Given the description of an element on the screen output the (x, y) to click on. 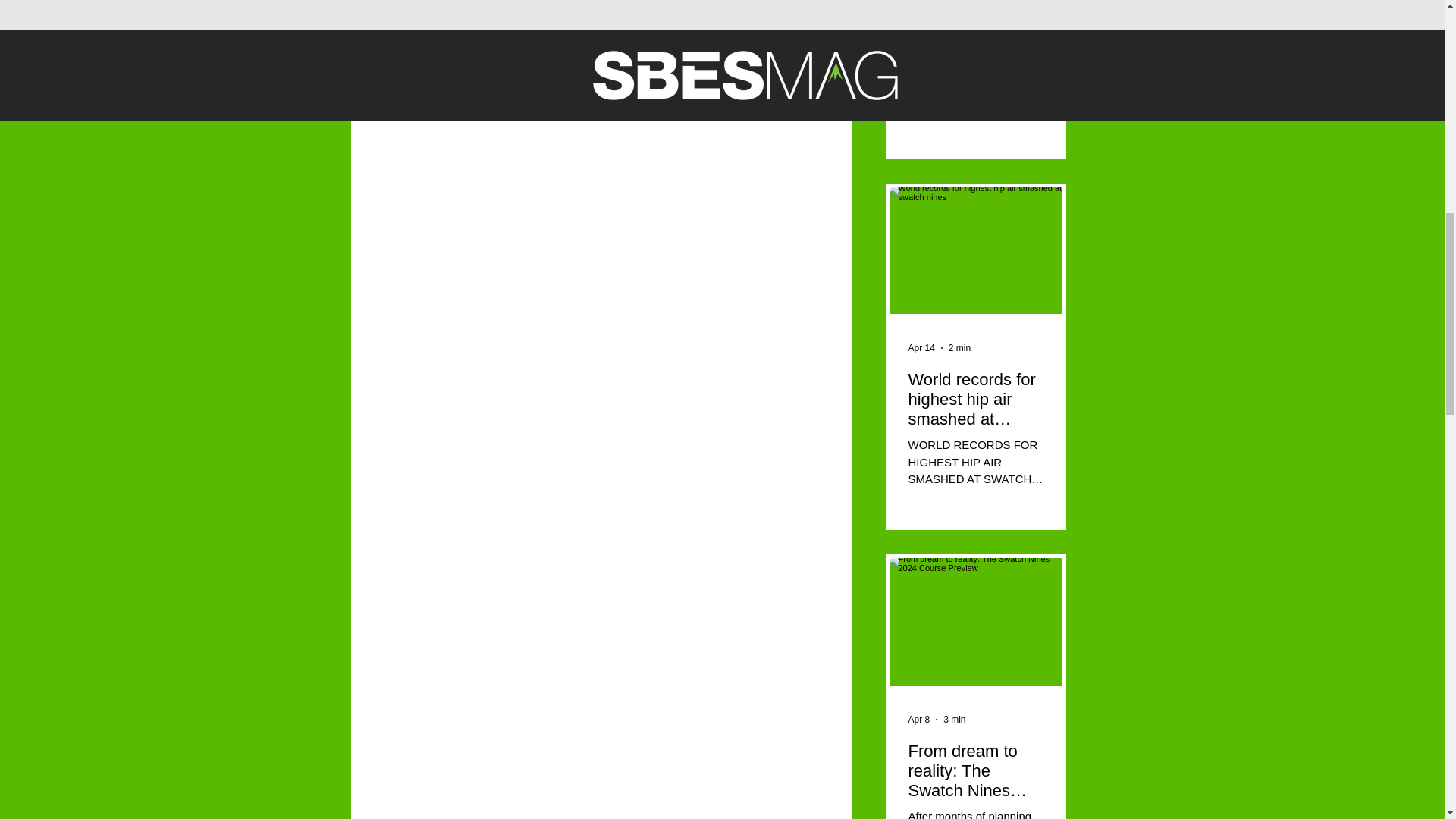
3 min (954, 719)
Apr 8 (919, 719)
Apr 14 (921, 347)
2 min (960, 347)
